Given the description of an element on the screen output the (x, y) to click on. 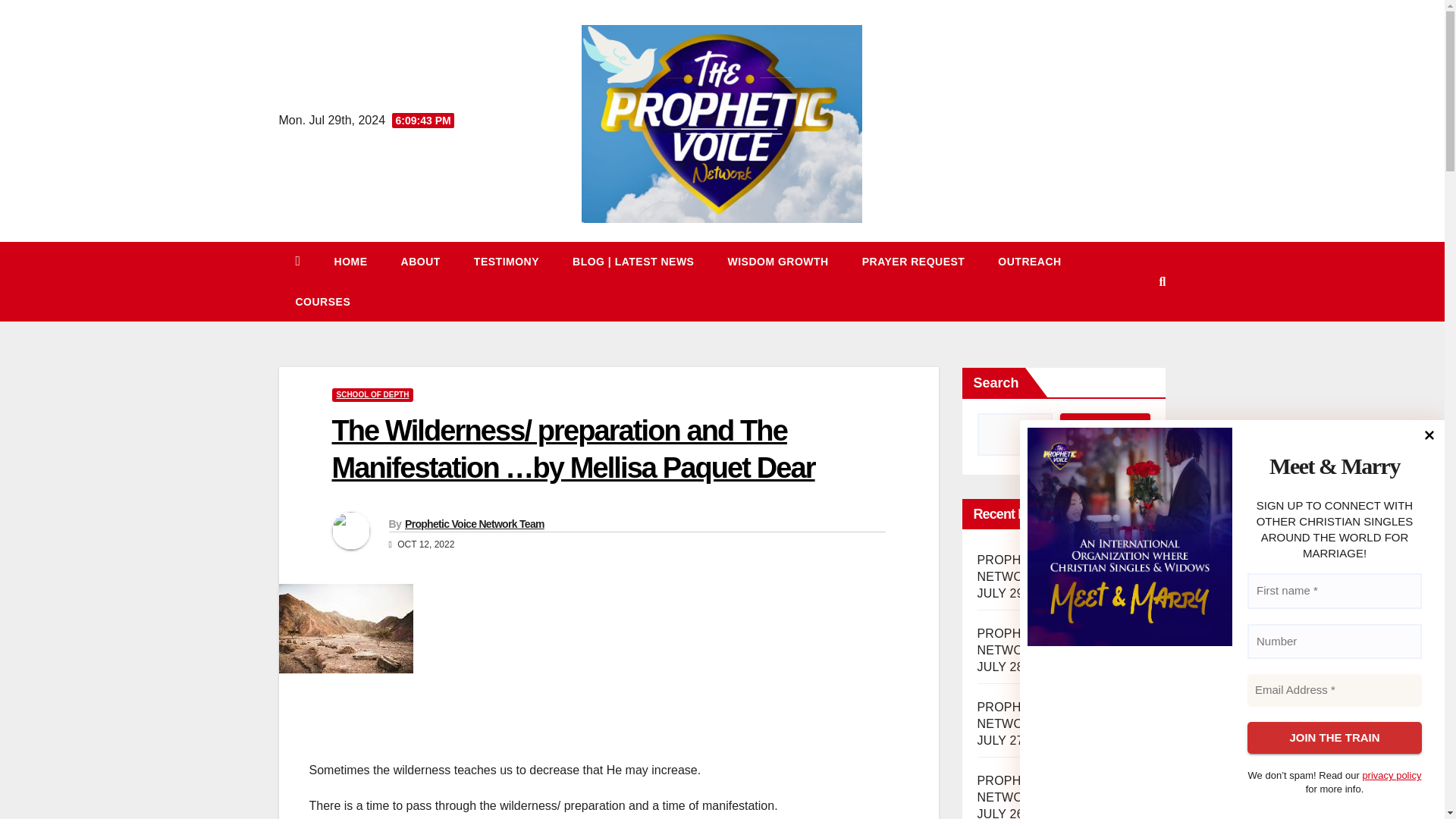
ABOUT (420, 261)
HOME (350, 261)
OUTREACH (1029, 261)
Outreach (1029, 261)
privacy policy (1391, 775)
About (420, 261)
Home (350, 261)
Wisdom Growth (777, 261)
TESTIMONY (506, 261)
WISDOM GROWTH (777, 261)
Testimony (506, 261)
Prayer Request (913, 261)
SCHOOL OF DEPTH (372, 395)
PRAYER REQUEST (913, 261)
First name (1334, 591)
